Given the description of an element on the screen output the (x, y) to click on. 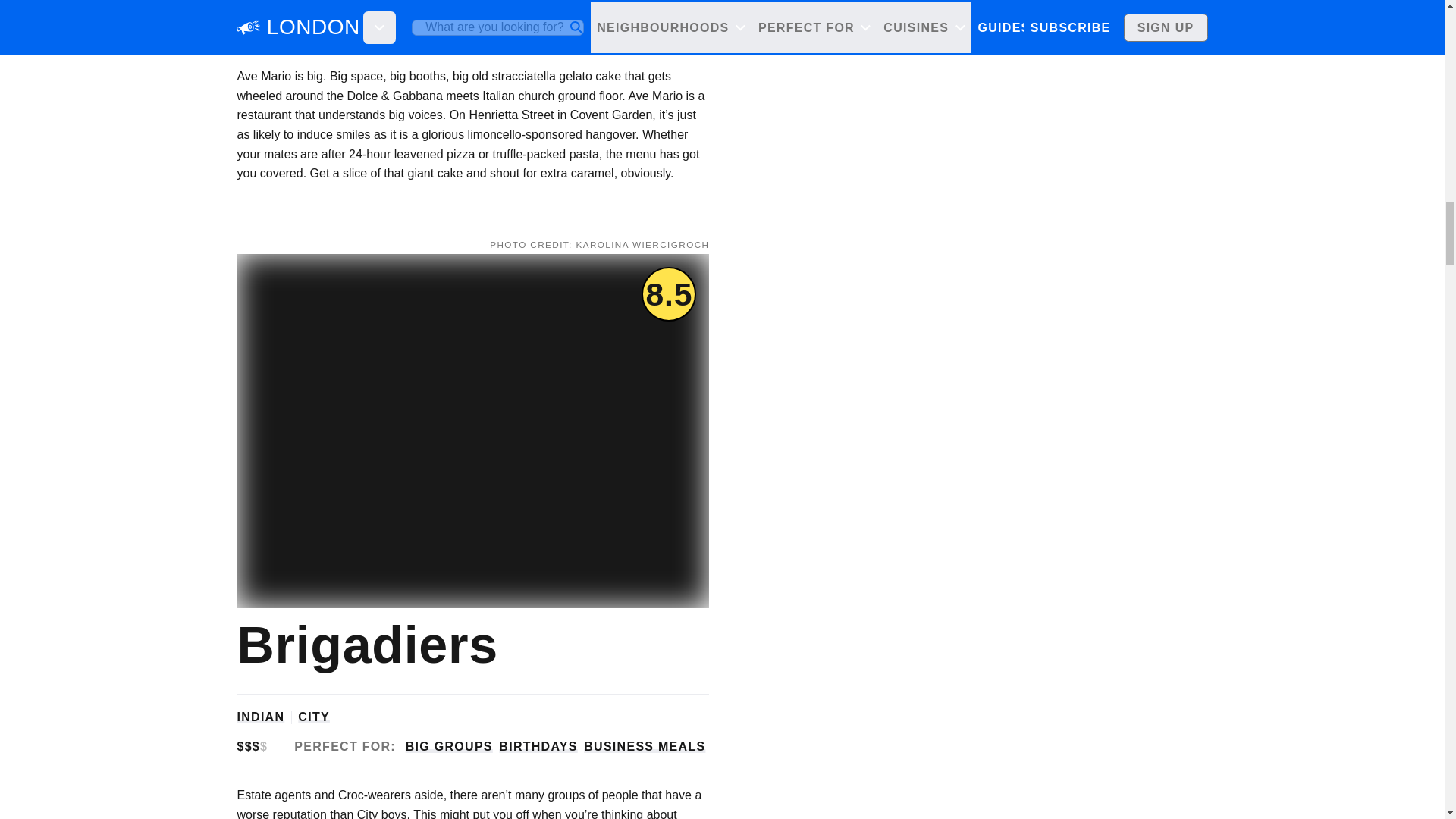
Brigadiers (363, 644)
BIG GROUPS (449, 27)
BIRTHDAYS (537, 746)
CITY (314, 716)
BUSINESS MEALS (643, 746)
ITALIAN (262, 2)
INDIAN (259, 716)
COVENT GARDEN (363, 2)
BIRTHDAYS (537, 27)
DATE NIGHTS (629, 27)
